Given the description of an element on the screen output the (x, y) to click on. 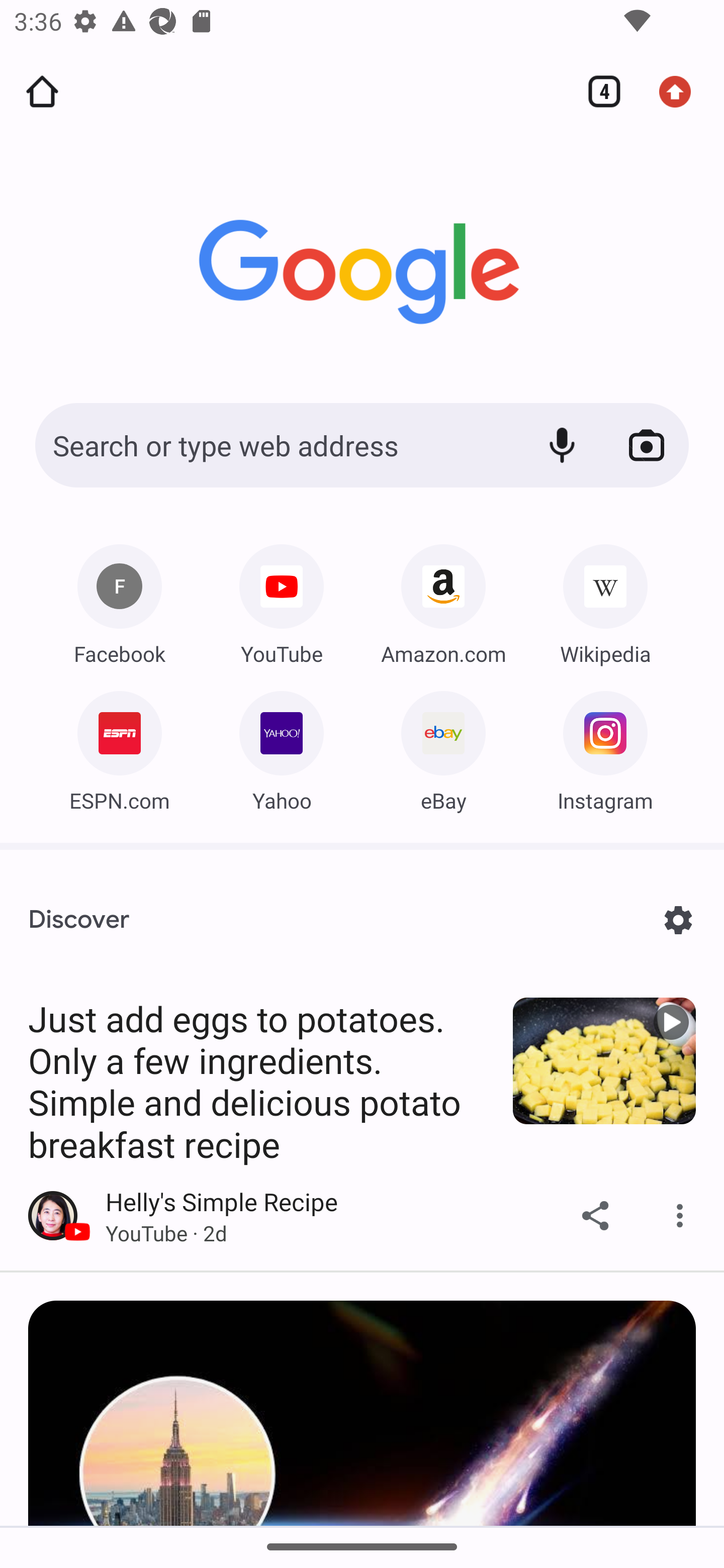
Home (42, 91)
Switch or close tabs (597, 91)
Update available. More options (681, 91)
Search or type web address (275, 444)
Start voice search (561, 444)
Search with your camera using Google Lens (646, 444)
Facebook (119, 599)
YouTube (281, 599)
Amazon.com (443, 599)
Wikipedia (605, 599)
ESPN.com (119, 746)
Yahoo (281, 746)
eBay (443, 746)
Instagram (605, 746)
Options for Discover (677, 919)
